Given the description of an element on the screen output the (x, y) to click on. 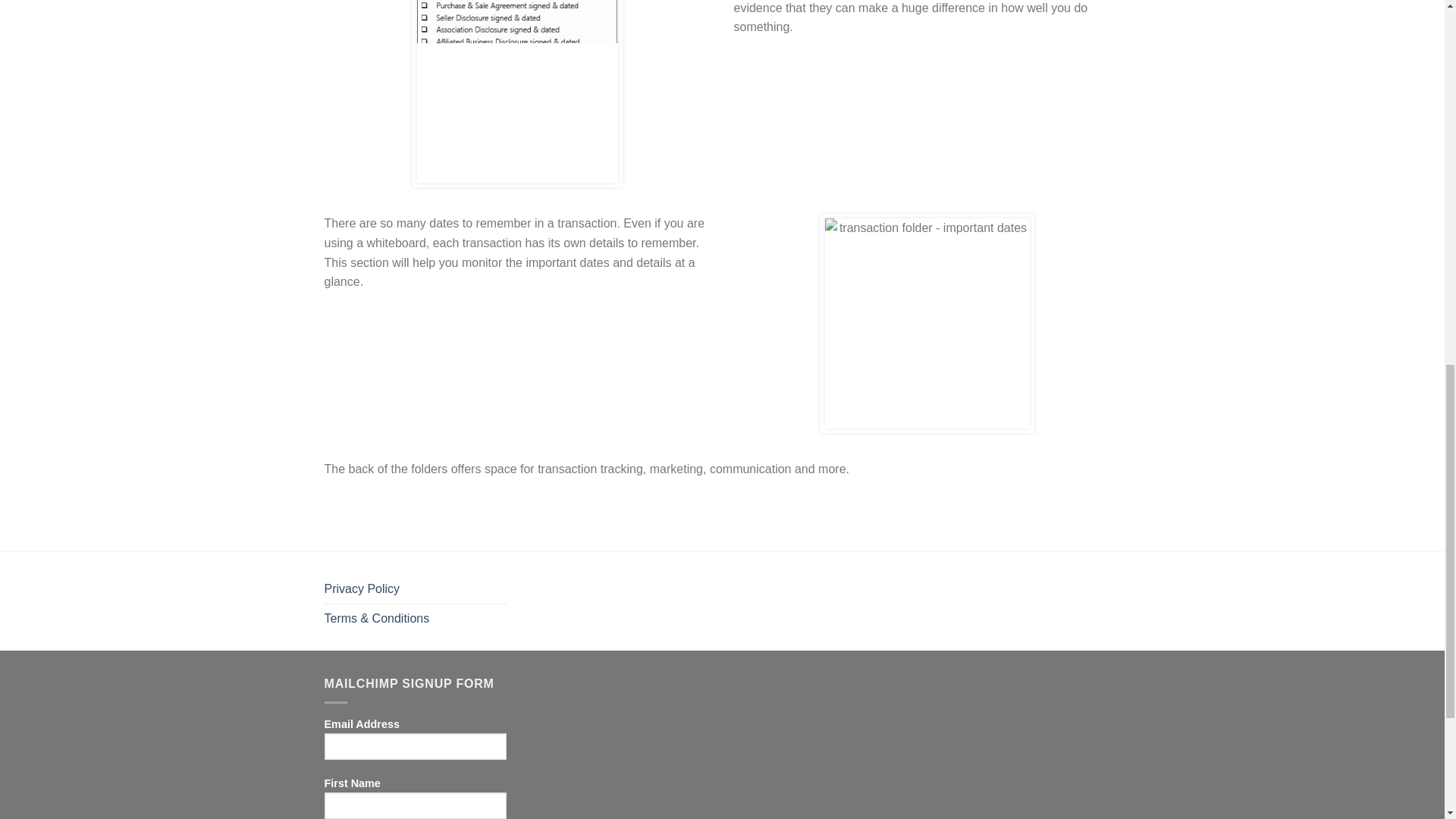
Contract Information (516, 91)
Privacy Policy (362, 588)
Important Dates (927, 323)
